Given the description of an element on the screen output the (x, y) to click on. 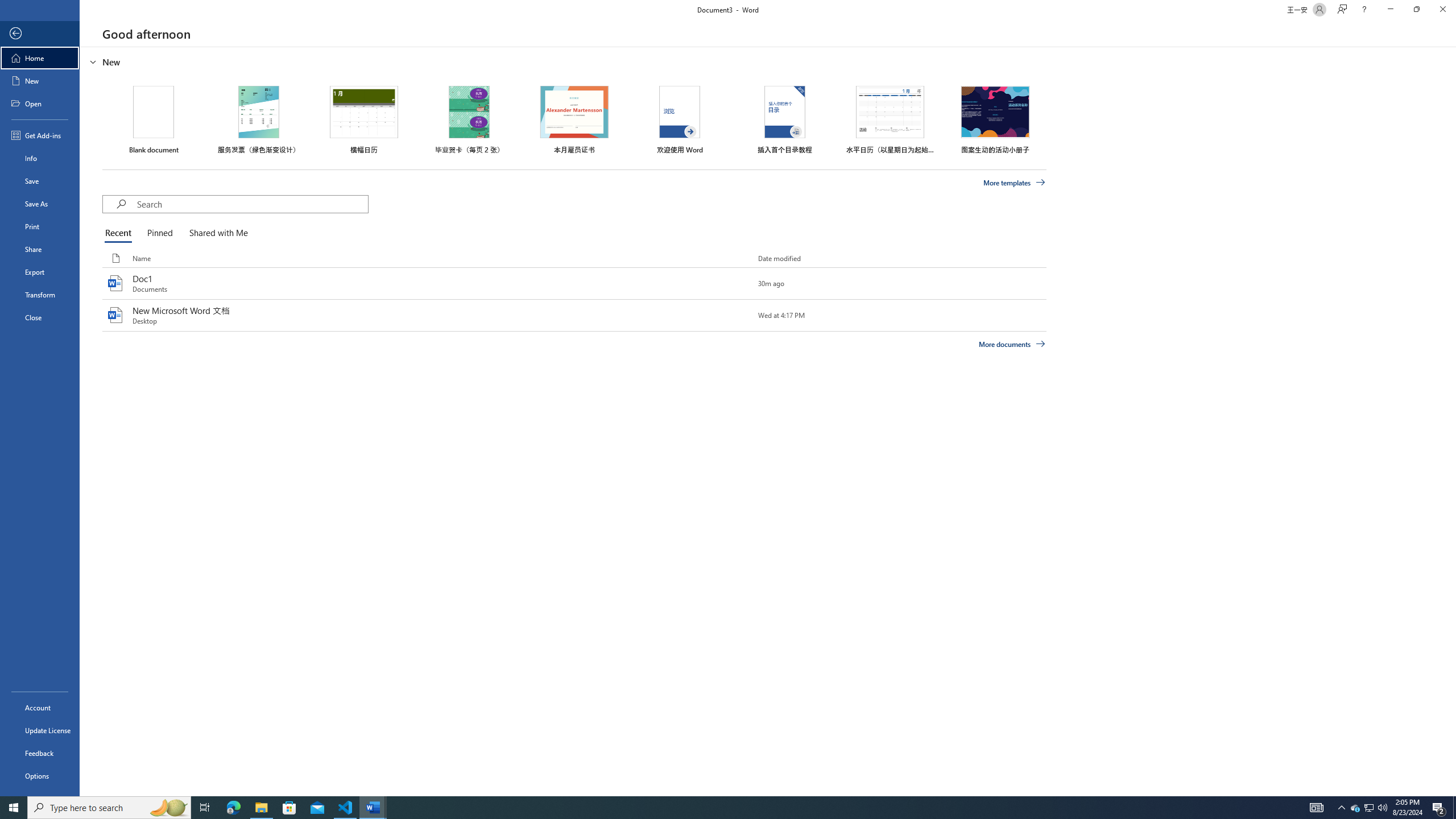
Feedback (40, 753)
Account (40, 707)
Search (252, 203)
Back (40, 33)
Minimize (1390, 9)
Update License (40, 730)
Get Add-ins (40, 134)
More templates (1014, 182)
Print (40, 225)
Open (40, 102)
Class: NetUIScrollBar (1450, 421)
